Given the description of an element on the screen output the (x, y) to click on. 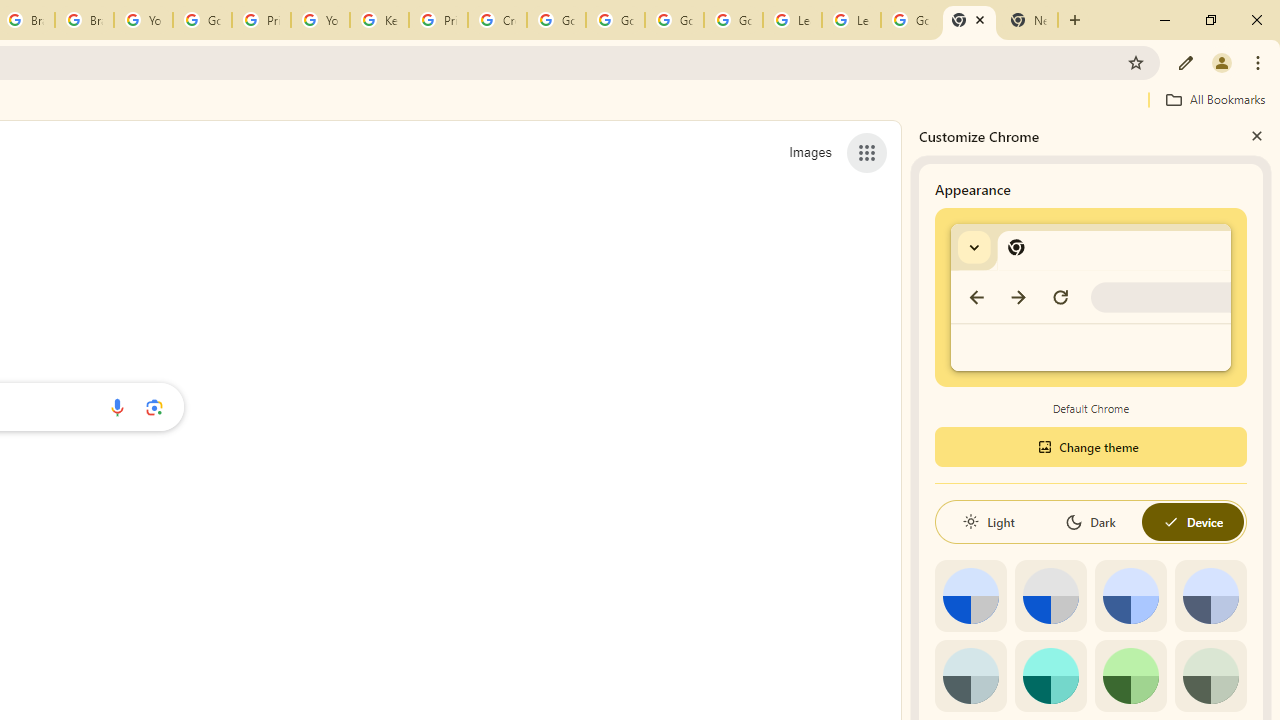
Light (988, 521)
Search for Images  (810, 152)
Default Chrome (1091, 296)
Google Account Help (556, 20)
Create your Google Account (497, 20)
Search by image (153, 407)
Google Account Help (201, 20)
Google Account Help (615, 20)
YouTube (142, 20)
